Given the description of an element on the screen output the (x, y) to click on. 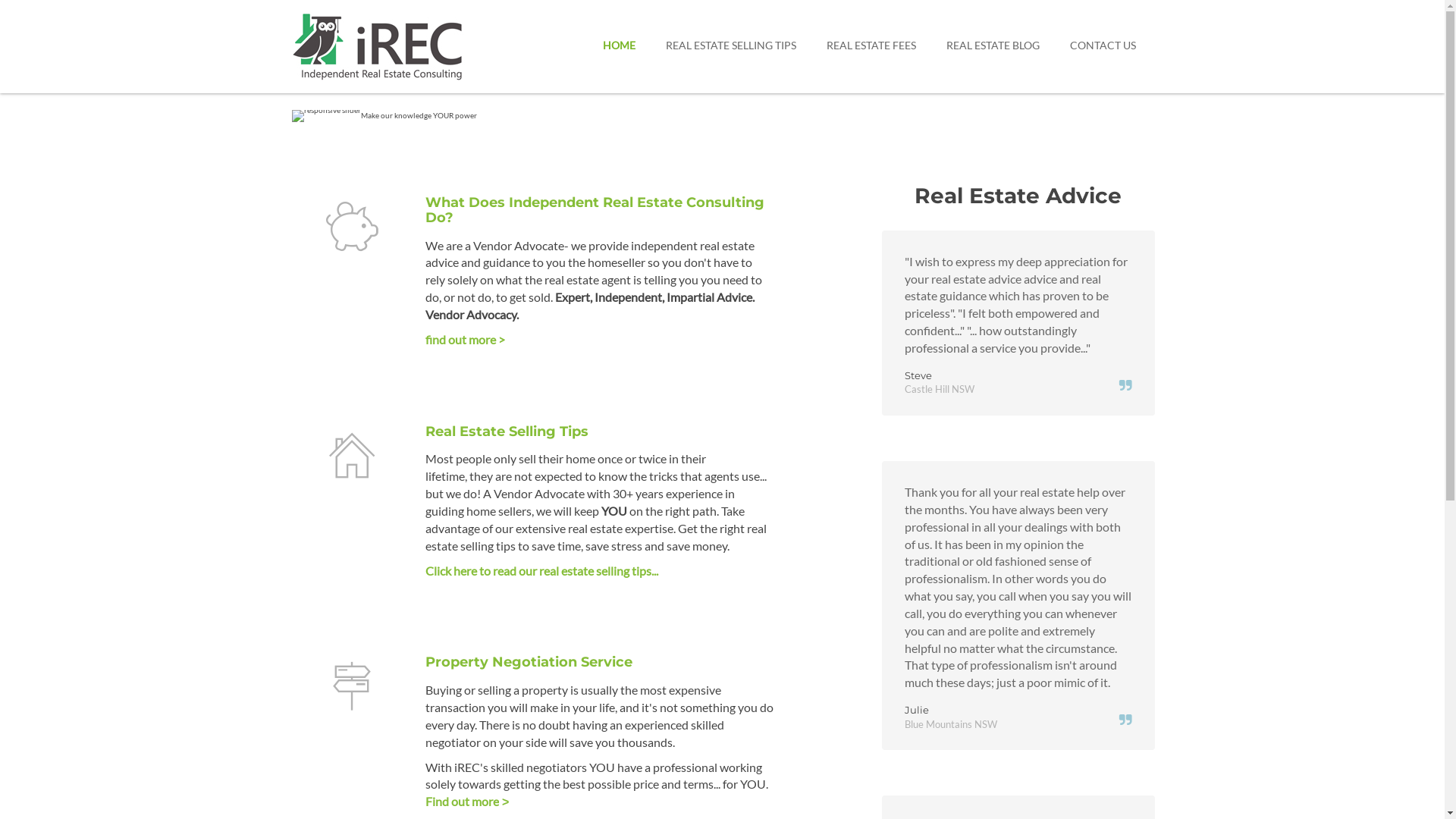
1 Element type: text (721, 112)
Know the tricks agents use Element type: hover (1203, 115)
2 Element type: text (731, 112)
REAL ESTATE BLOG Element type: text (992, 45)
When selling, knowledge is power! Element type: hover (325, 115)
REAL ESTATE SELLING TIPS Element type: text (729, 45)
find out more > Element type: text (465, 339)
3 Element type: text (740, 112)
CONTACT US Element type: text (1102, 45)
Click here to read our real estate selling tips... Element type: text (541, 570)
HOME Element type: text (618, 45)
REAL ESTATE FEES Element type: text (870, 45)
Independent Real Estate Consulting Element type: hover (408, 44)
Find out more > Element type: text (467, 800)
